Given the description of an element on the screen output the (x, y) to click on. 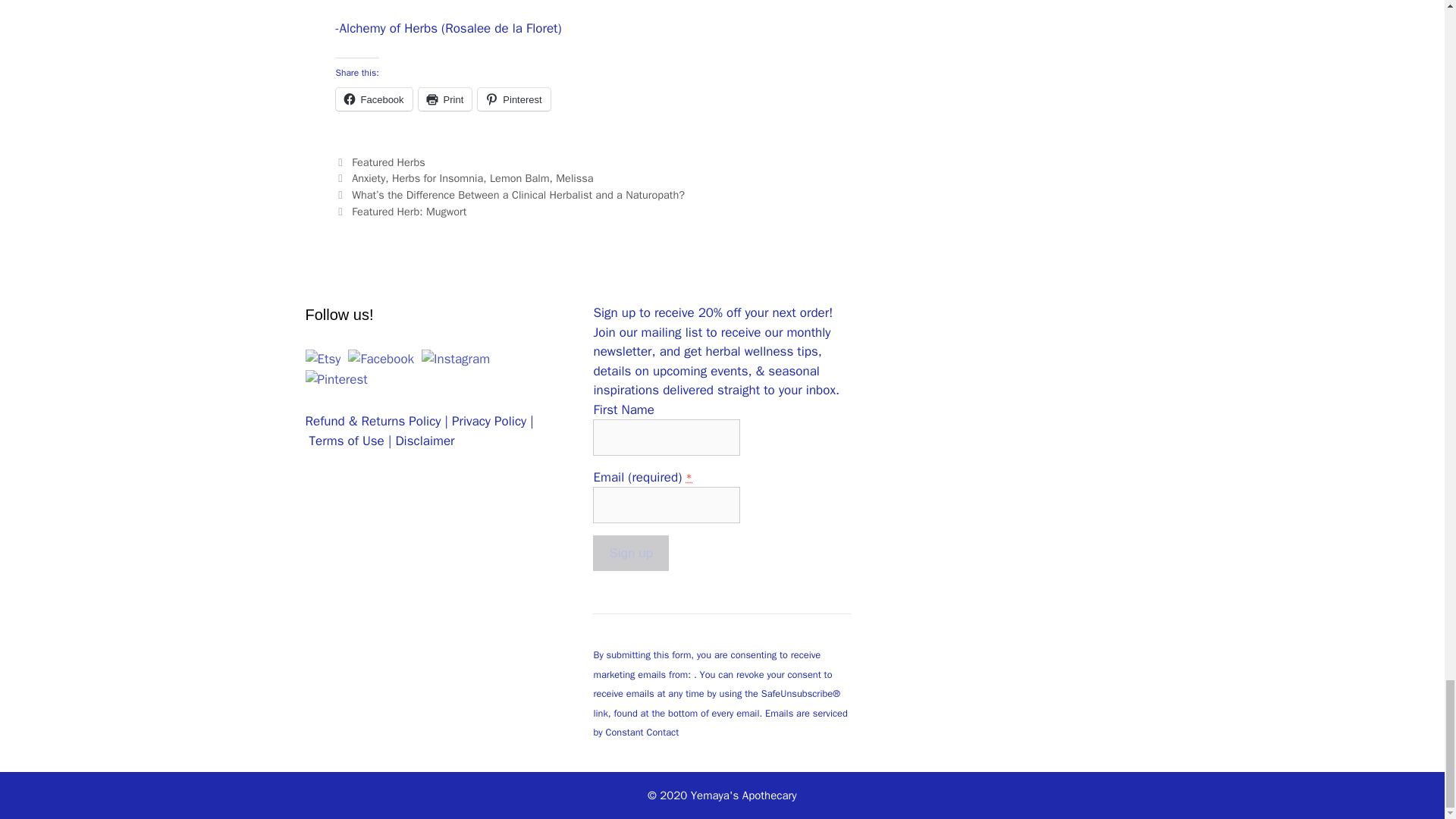
Click to share on Facebook (373, 98)
Click to print (445, 98)
 Pinterest (335, 379)
Facebook (373, 98)
Anxiety (368, 178)
Click to share on Pinterest (513, 98)
Print (445, 98)
Pinterest (513, 98)
 Etsy (322, 359)
Lemon Balm (519, 178)
